Given the description of an element on the screen output the (x, y) to click on. 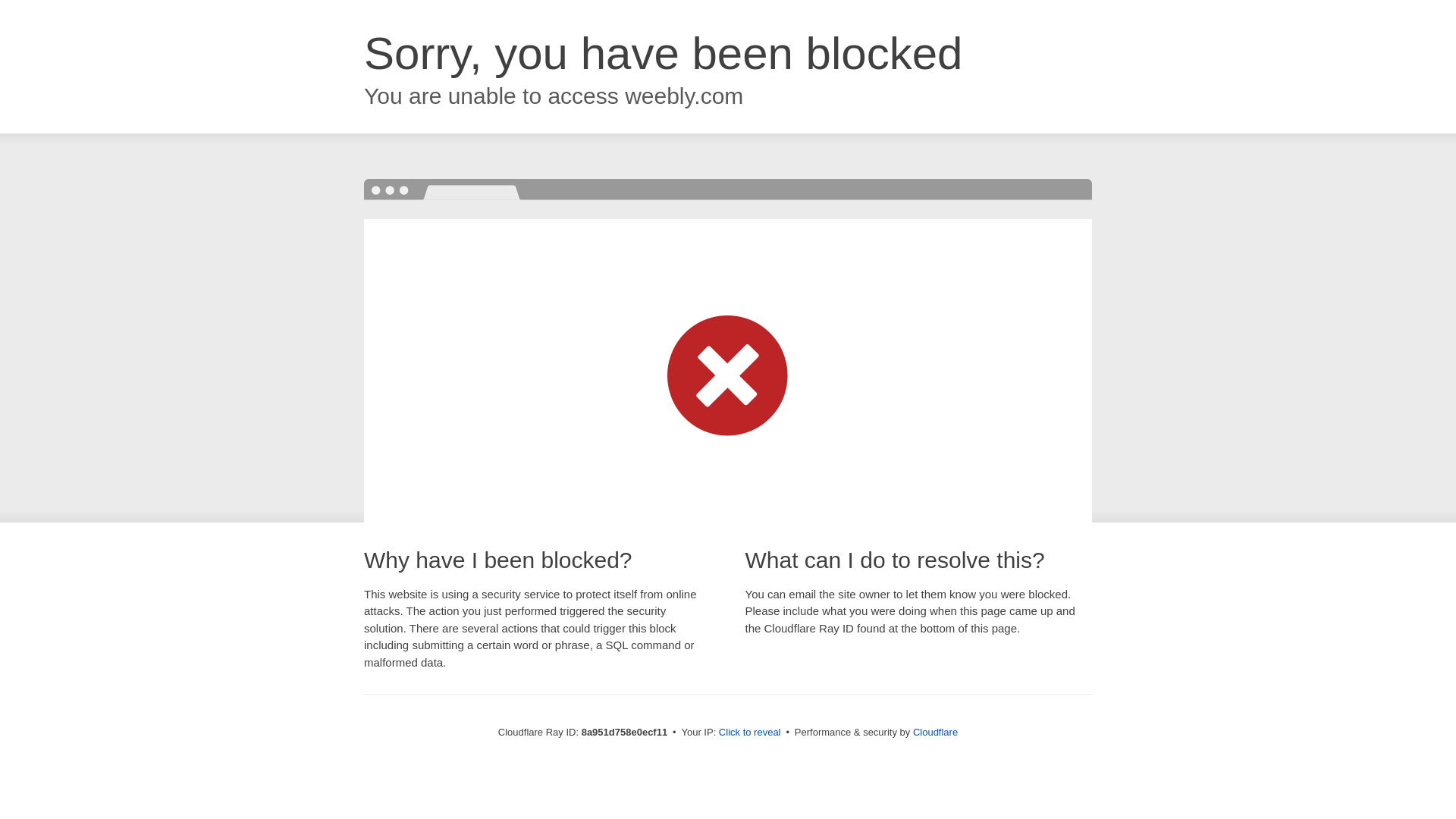
Click to reveal (749, 732)
Cloudflare (935, 731)
